Given the description of an element on the screen output the (x, y) to click on. 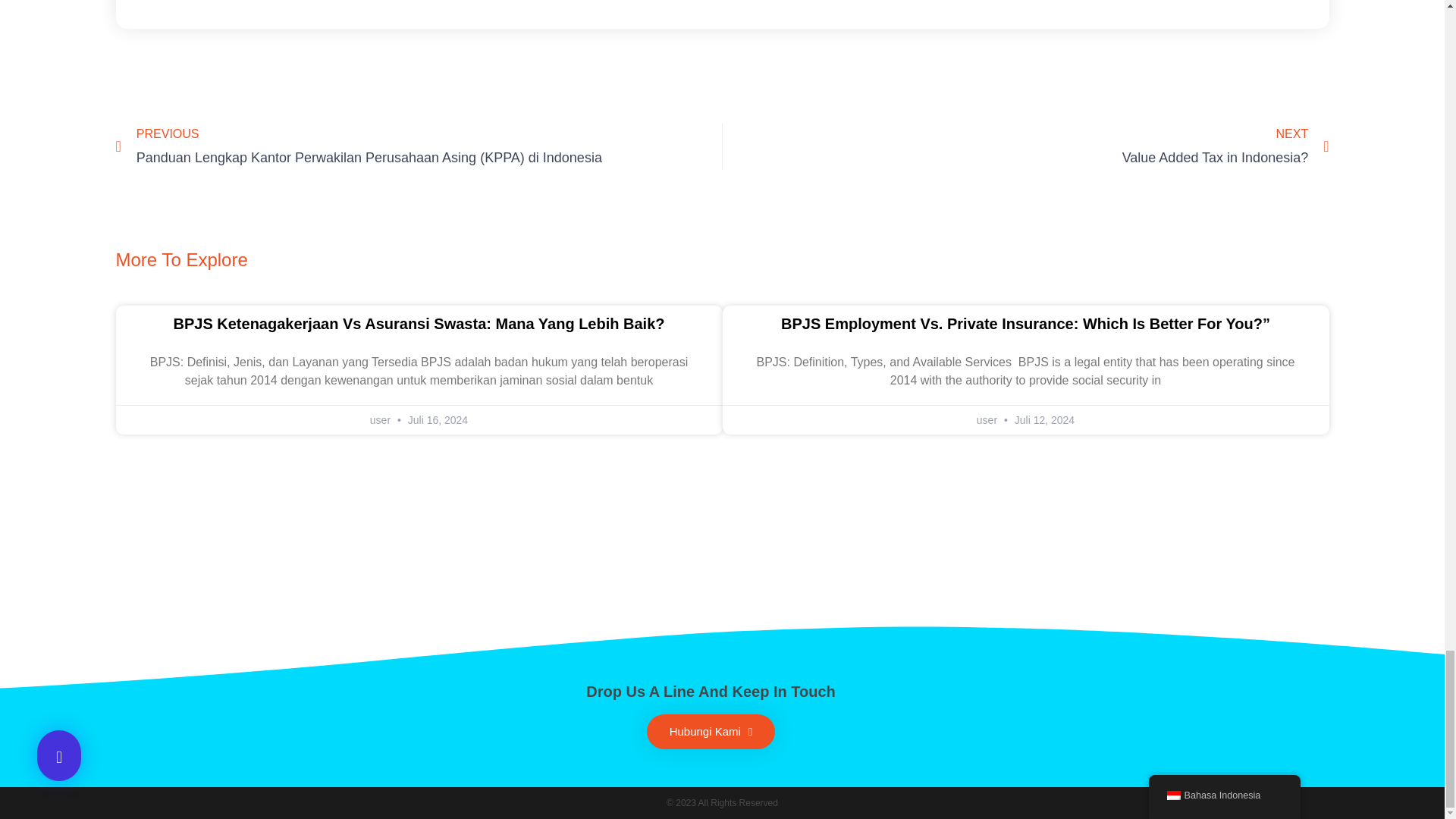
Hubungi Kami (1025, 146)
